Given the description of an element on the screen output the (x, y) to click on. 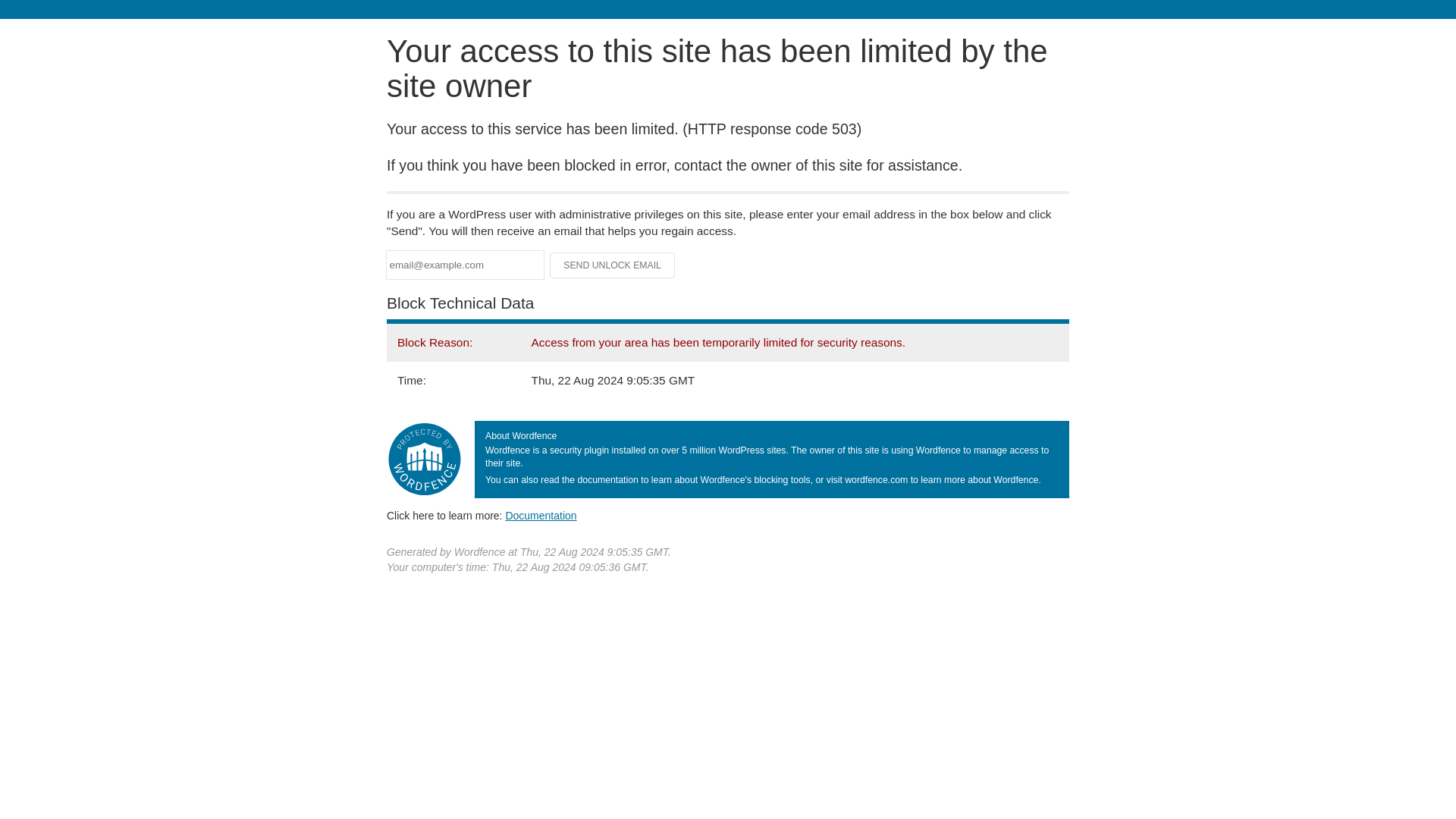
Documentation (540, 515)
Send Unlock Email (612, 265)
Send Unlock Email (612, 265)
